Given the description of an element on the screen output the (x, y) to click on. 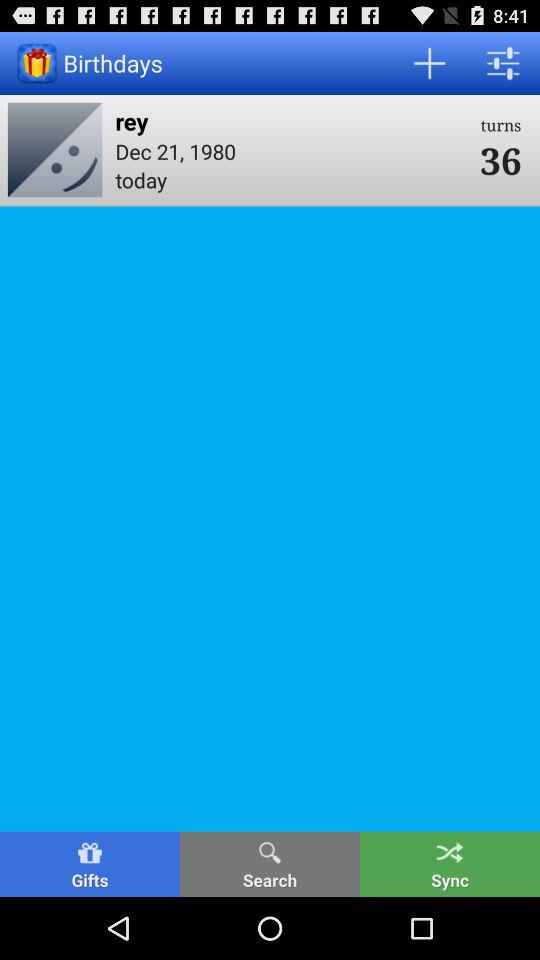
turn off the app below the today item (270, 863)
